Given the description of an element on the screen output the (x, y) to click on. 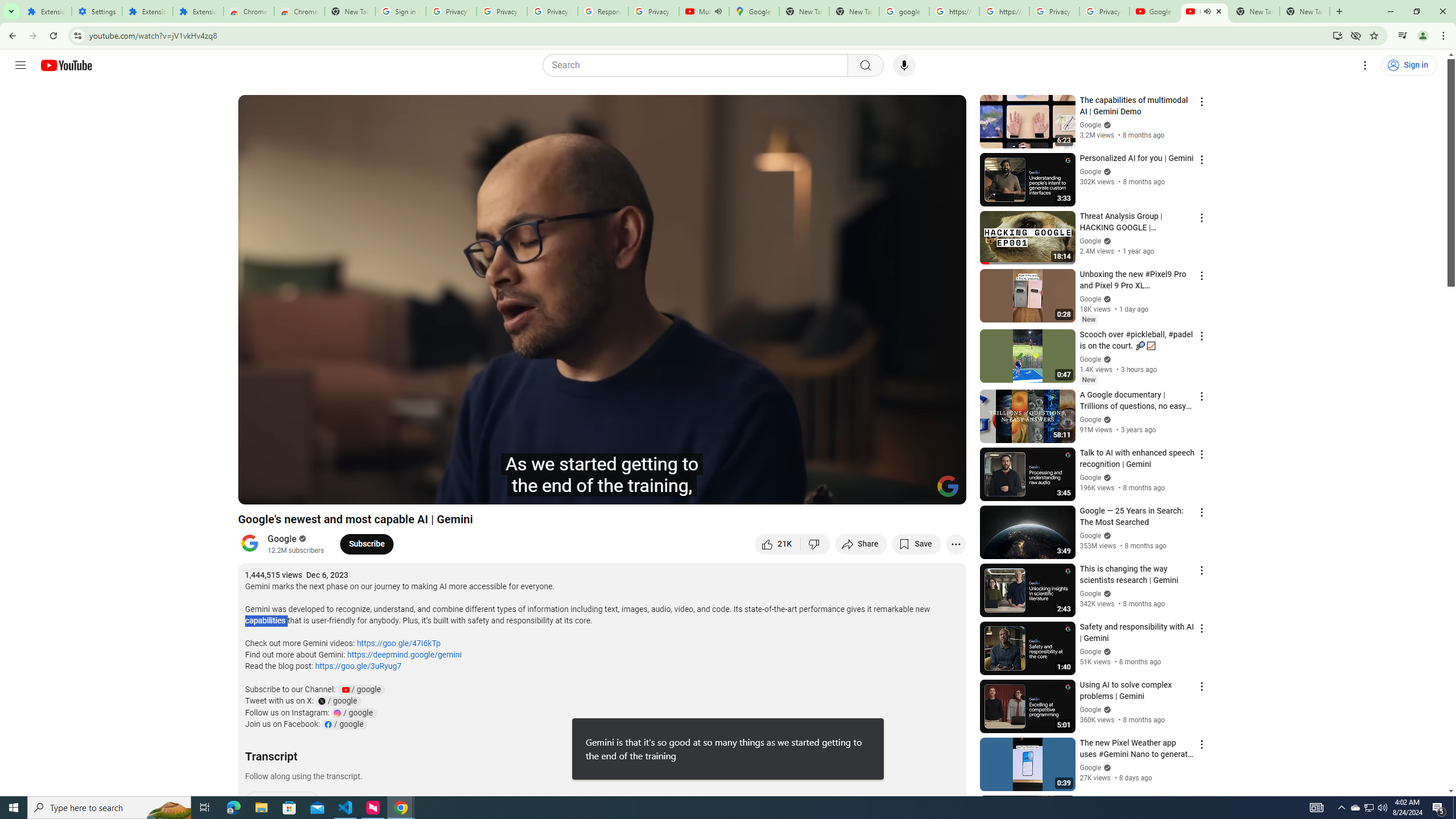
Google Maps (753, 11)
